Given the description of an element on the screen output the (x, y) to click on. 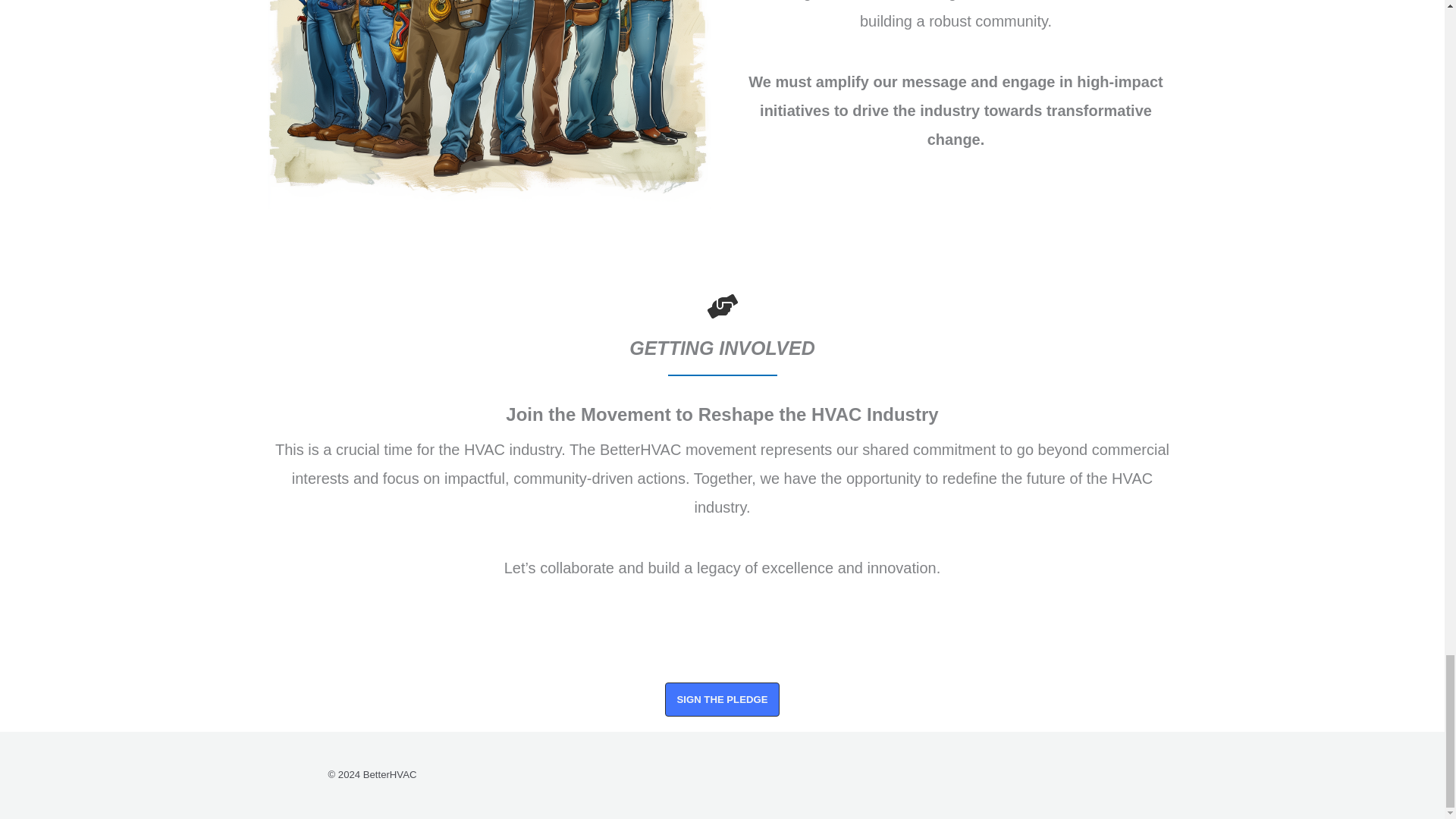
SIGN THE PLEDGE (722, 699)
